Given the description of an element on the screen output the (x, y) to click on. 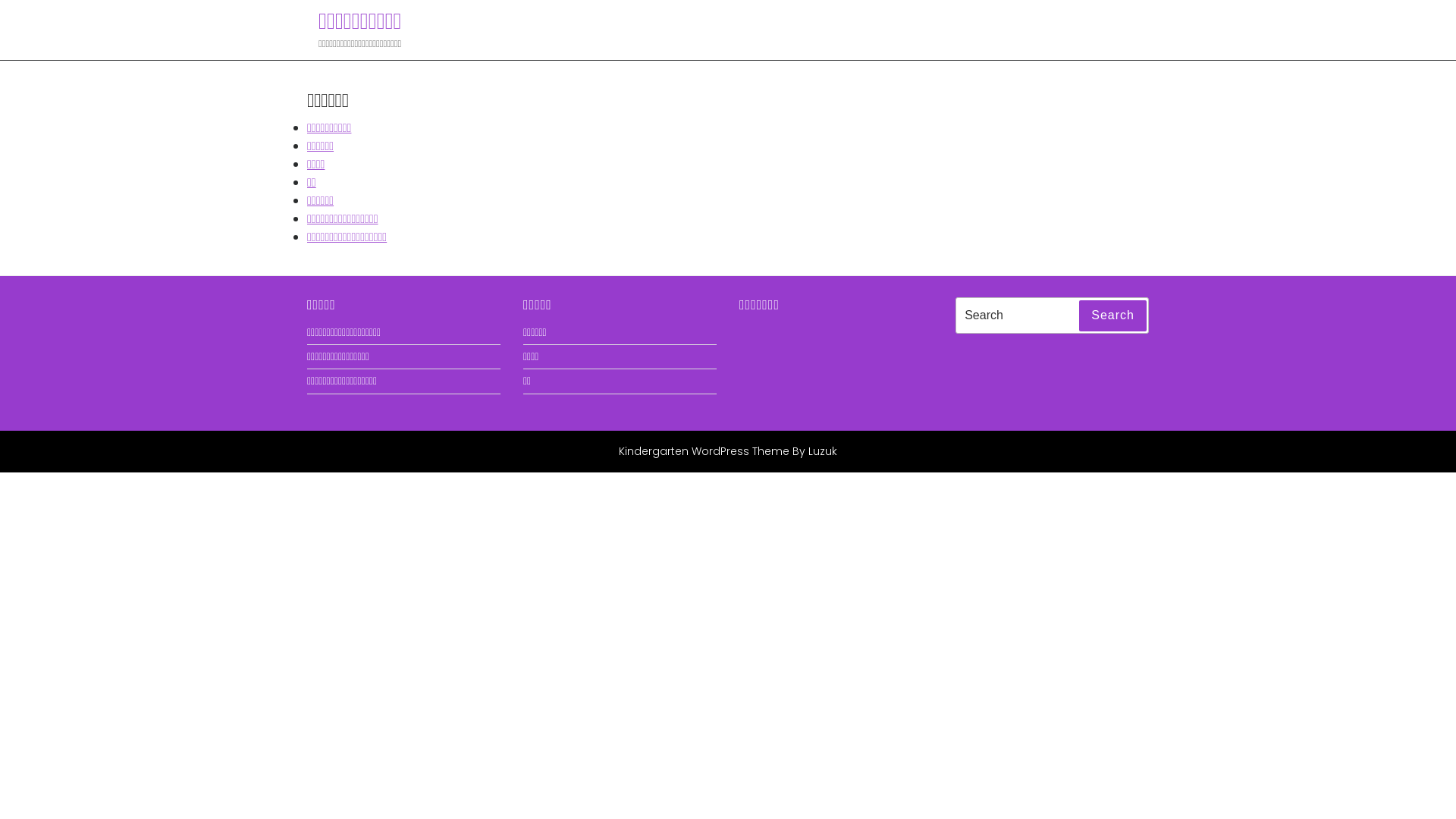
Search Element type: text (1112, 316)
Kindergarten WordPress Theme Element type: text (703, 450)
